Given the description of an element on the screen output the (x, y) to click on. 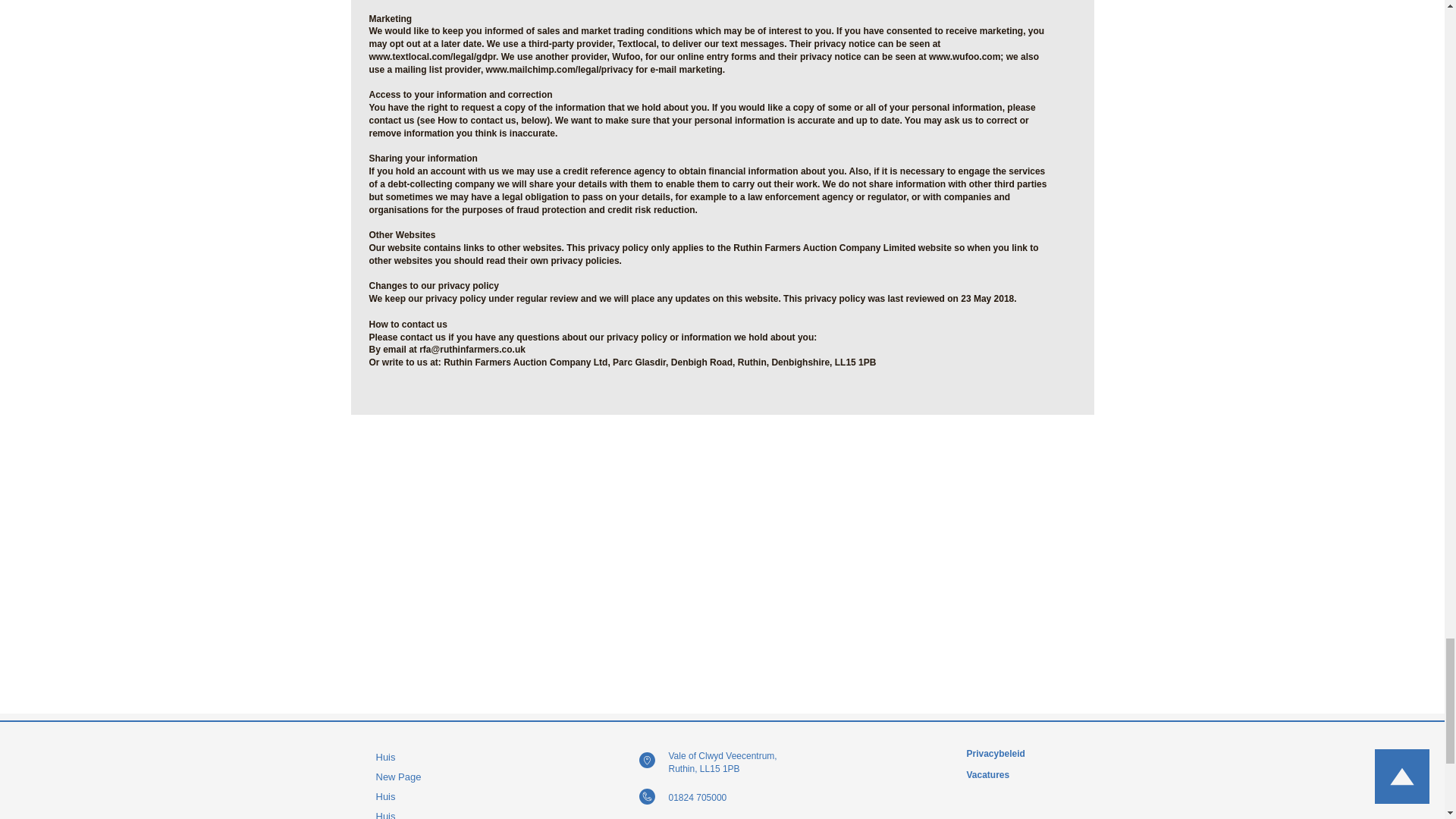
Huis (442, 796)
Huis (442, 812)
New Page (442, 777)
Huis (442, 757)
